Given the description of an element on the screen output the (x, y) to click on. 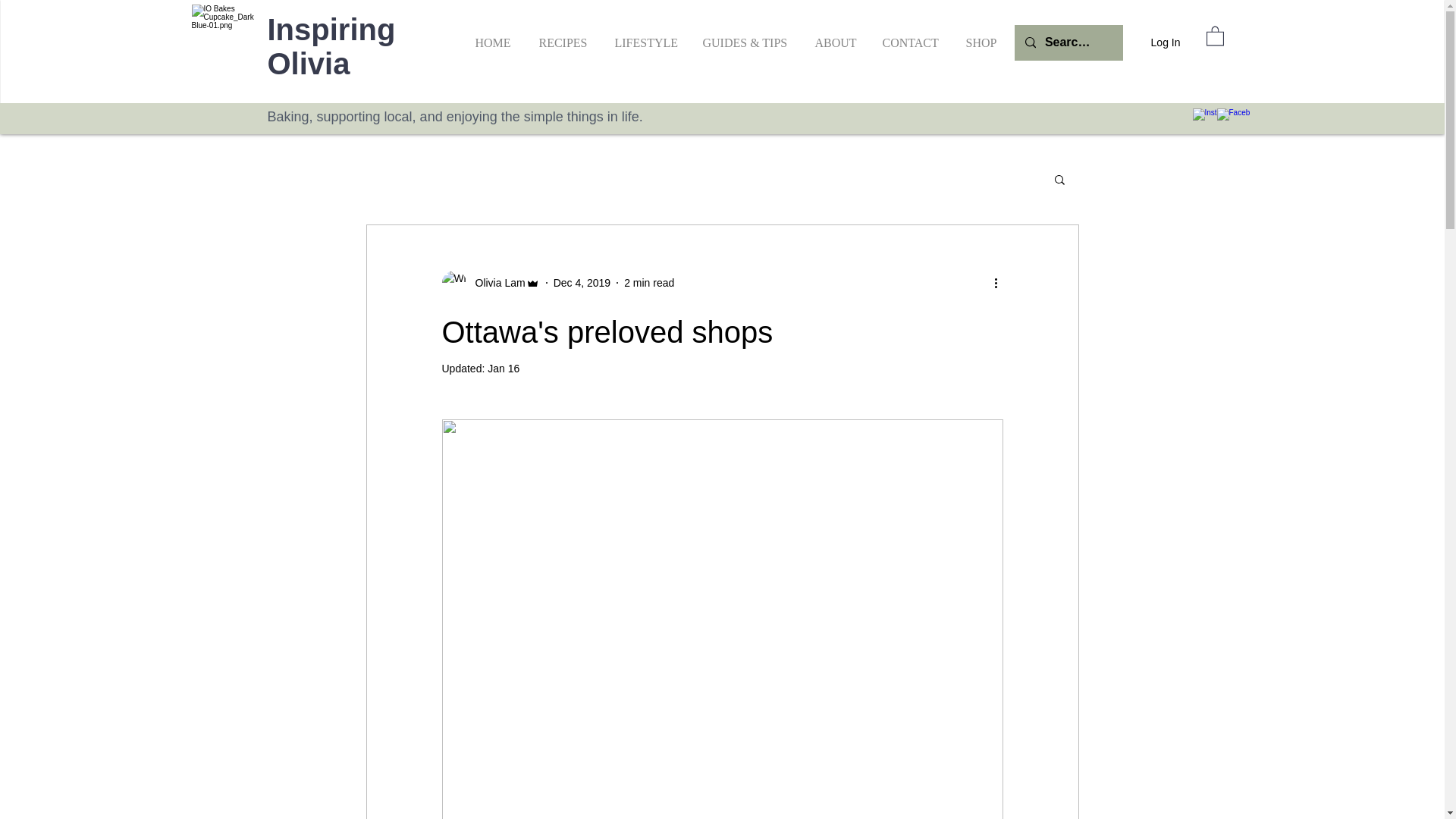
HOME (492, 35)
Log In (1152, 42)
Inspiring Olivia (330, 46)
CONTACT (910, 35)
SHOP (981, 35)
ABOUT (833, 35)
Olivia Lam (494, 282)
Jan 16 (503, 368)
RECIPES (561, 35)
2 min read (649, 282)
